Given the description of an element on the screen output the (x, y) to click on. 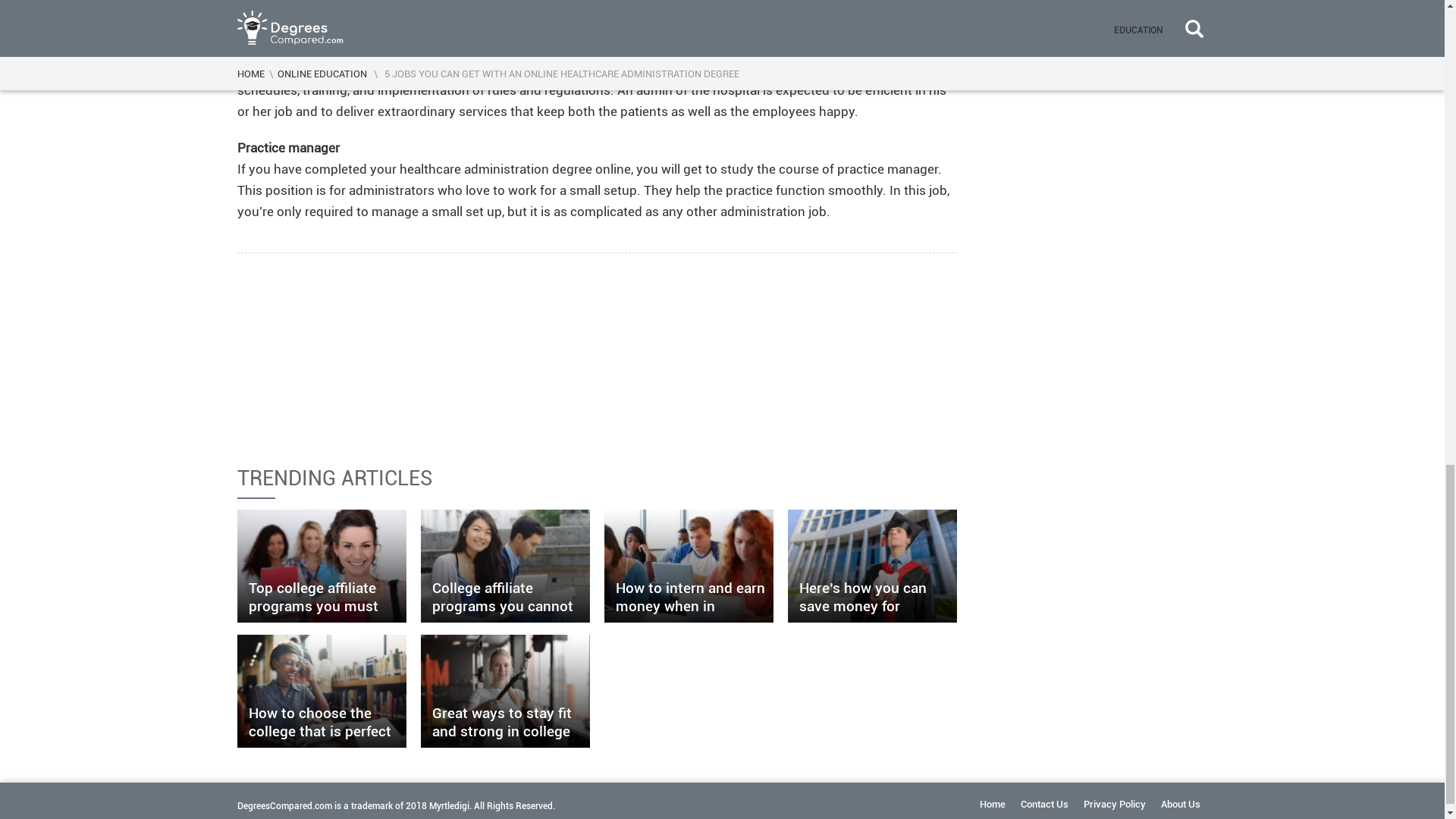
Contact Us (1044, 804)
Top college affiliate programs you must know about (321, 565)
 Top college affiliate programs you must know about (321, 565)
College affiliate programs you cannot afford to miss (504, 565)
 College affiliate programs you cannot afford to miss (504, 565)
How to choose the college that is perfect for you (321, 690)
Great ways to stay fit and strong in college (504, 690)
 How to choose the college that is perfect for you (321, 690)
Home (992, 804)
About Us (1179, 804)
 How to intern and earn money when in college (688, 565)
Privacy Policy (1113, 804)
 Great ways to stay fit and strong in college (504, 690)
How to intern and earn money when in college (688, 565)
